Given the description of an element on the screen output the (x, y) to click on. 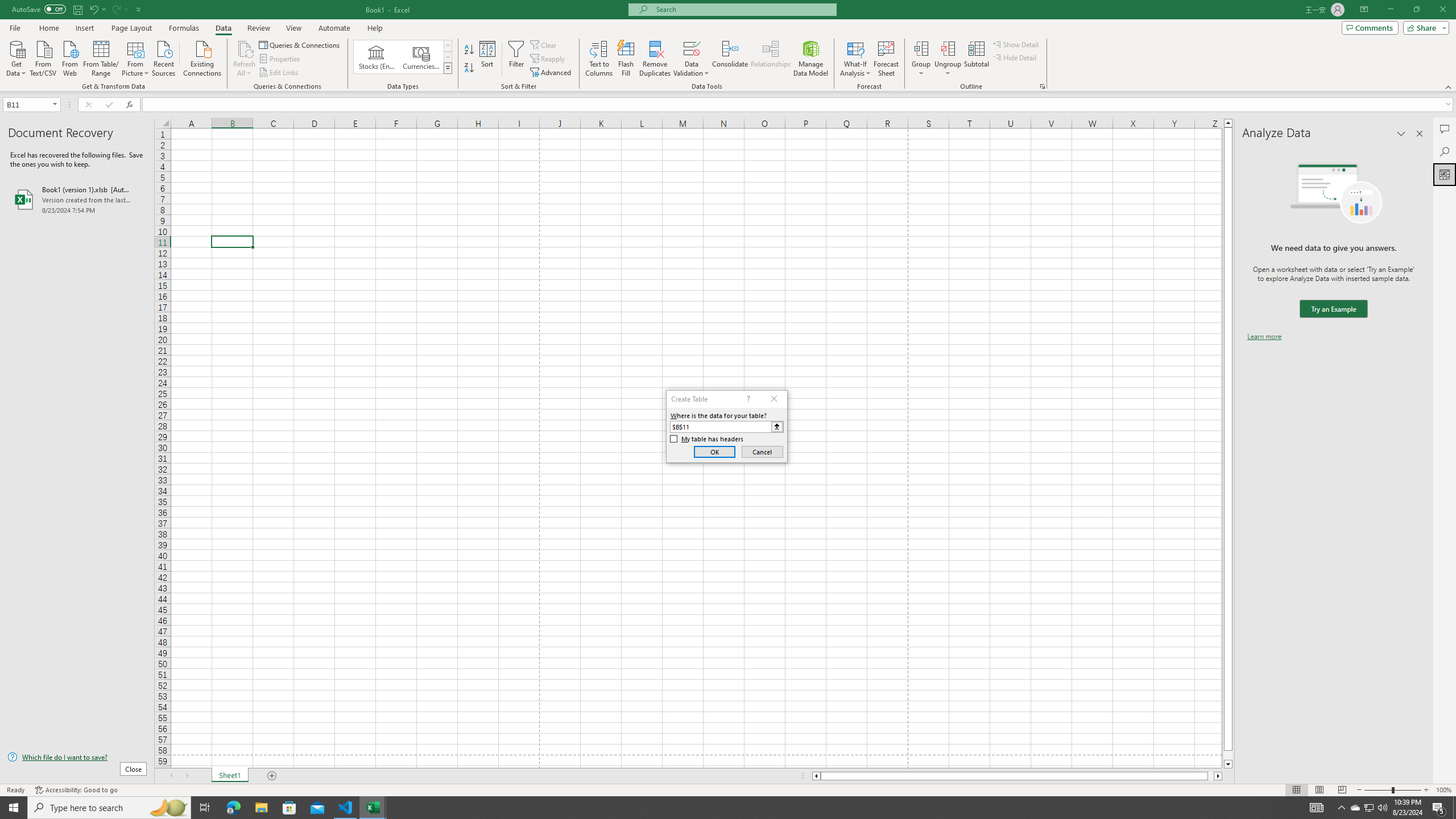
Book1 (version 1).xlsb  [AutoRecovered] (77, 199)
Subtotal (976, 58)
Refresh All (244, 48)
Analyze Data (1444, 173)
Show Detail (1016, 44)
Get Data (16, 57)
Forecast Sheet (885, 58)
Edit Links (279, 72)
Filter (515, 58)
